Given the description of an element on the screen output the (x, y) to click on. 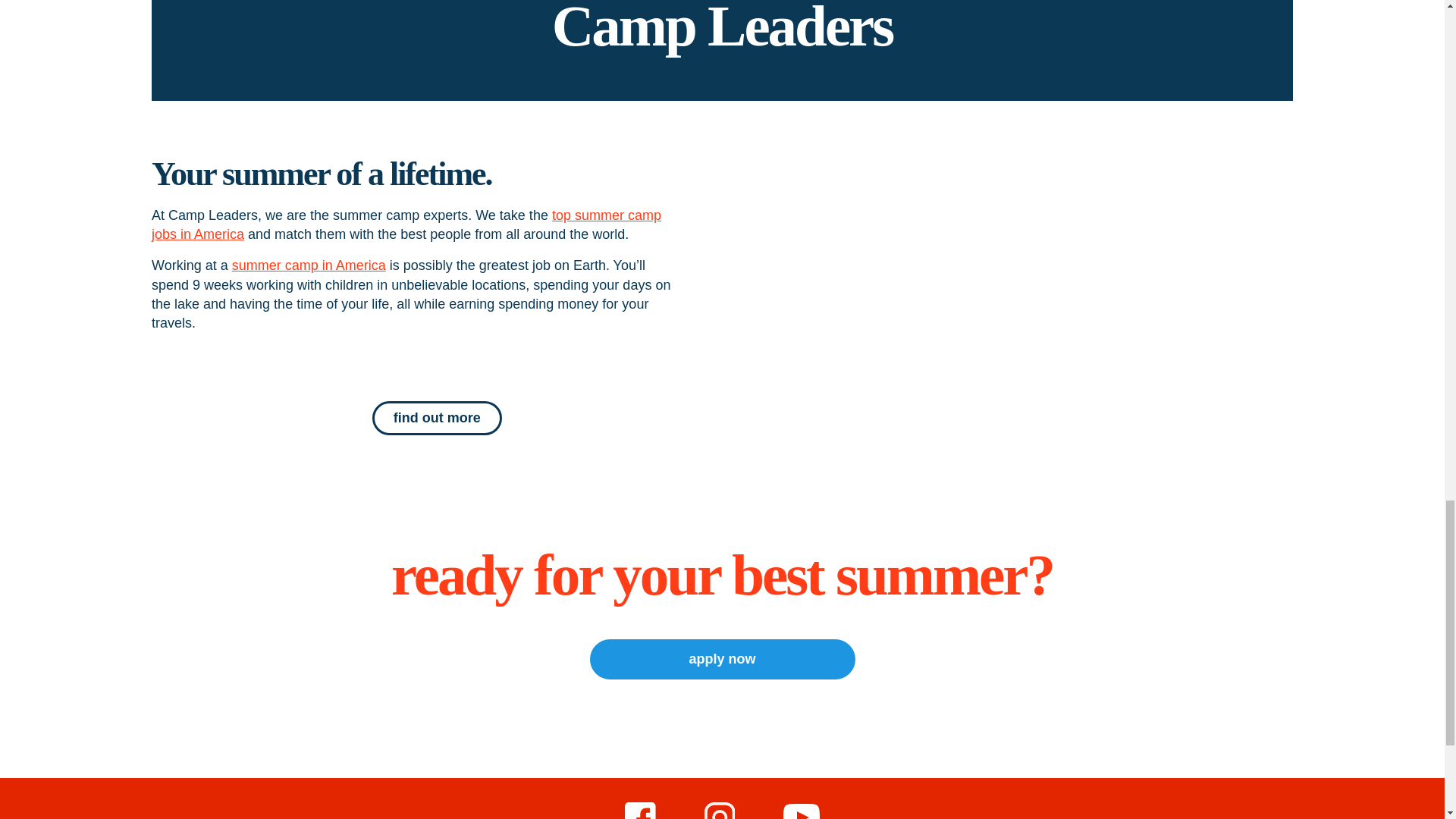
apply now (722, 659)
find out more (437, 417)
summer camp in America (308, 264)
top summer camp jobs in America (406, 224)
